Given the description of an element on the screen output the (x, y) to click on. 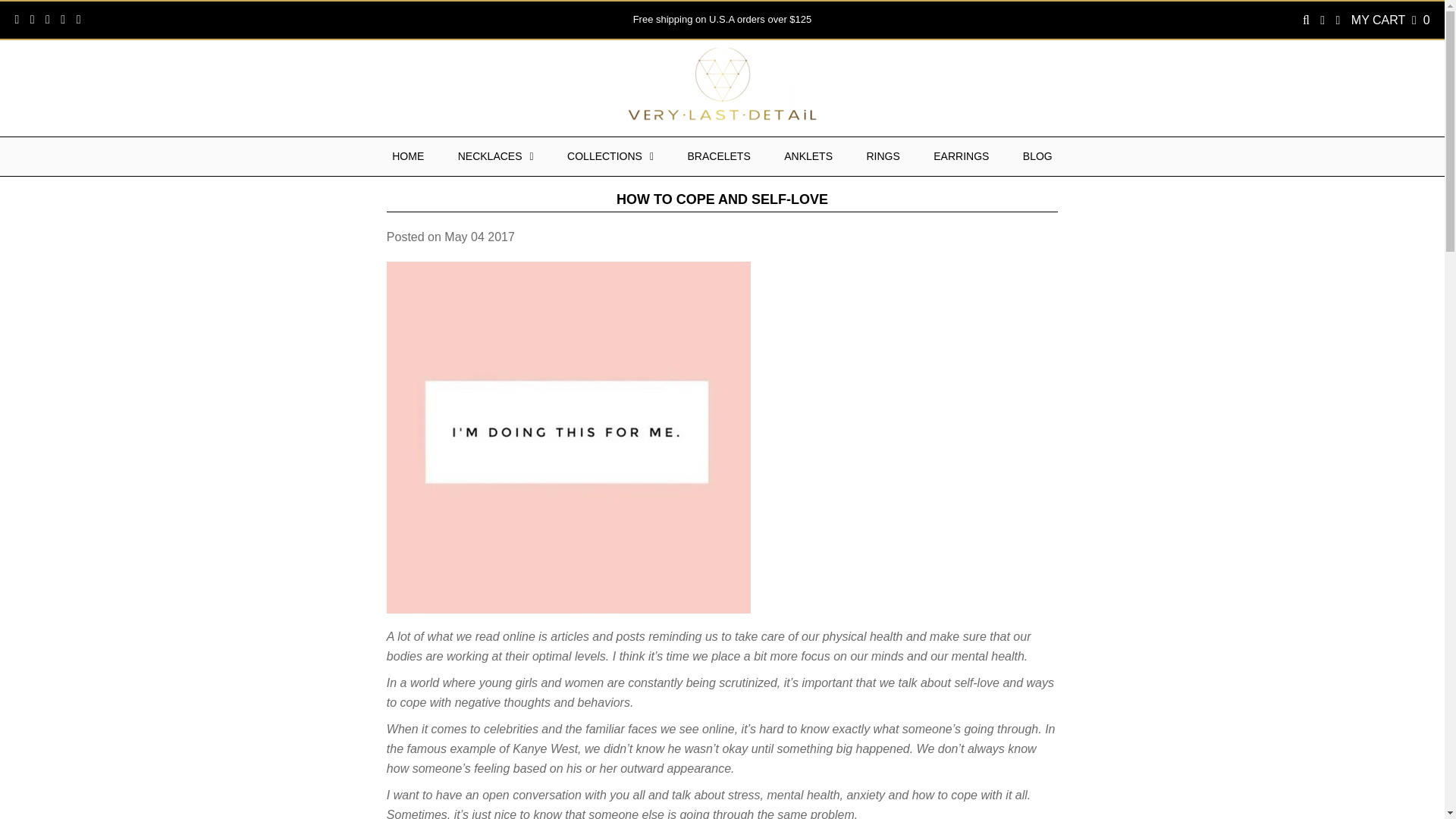
BLOG (1037, 156)
HOME (408, 156)
BRACELETS (718, 156)
EARRINGS (961, 156)
ANKLETS (807, 156)
NECKLACES (495, 156)
MY CART    0 (1390, 19)
RINGS (882, 156)
COLLECTIONS (609, 156)
